Given the description of an element on the screen output the (x, y) to click on. 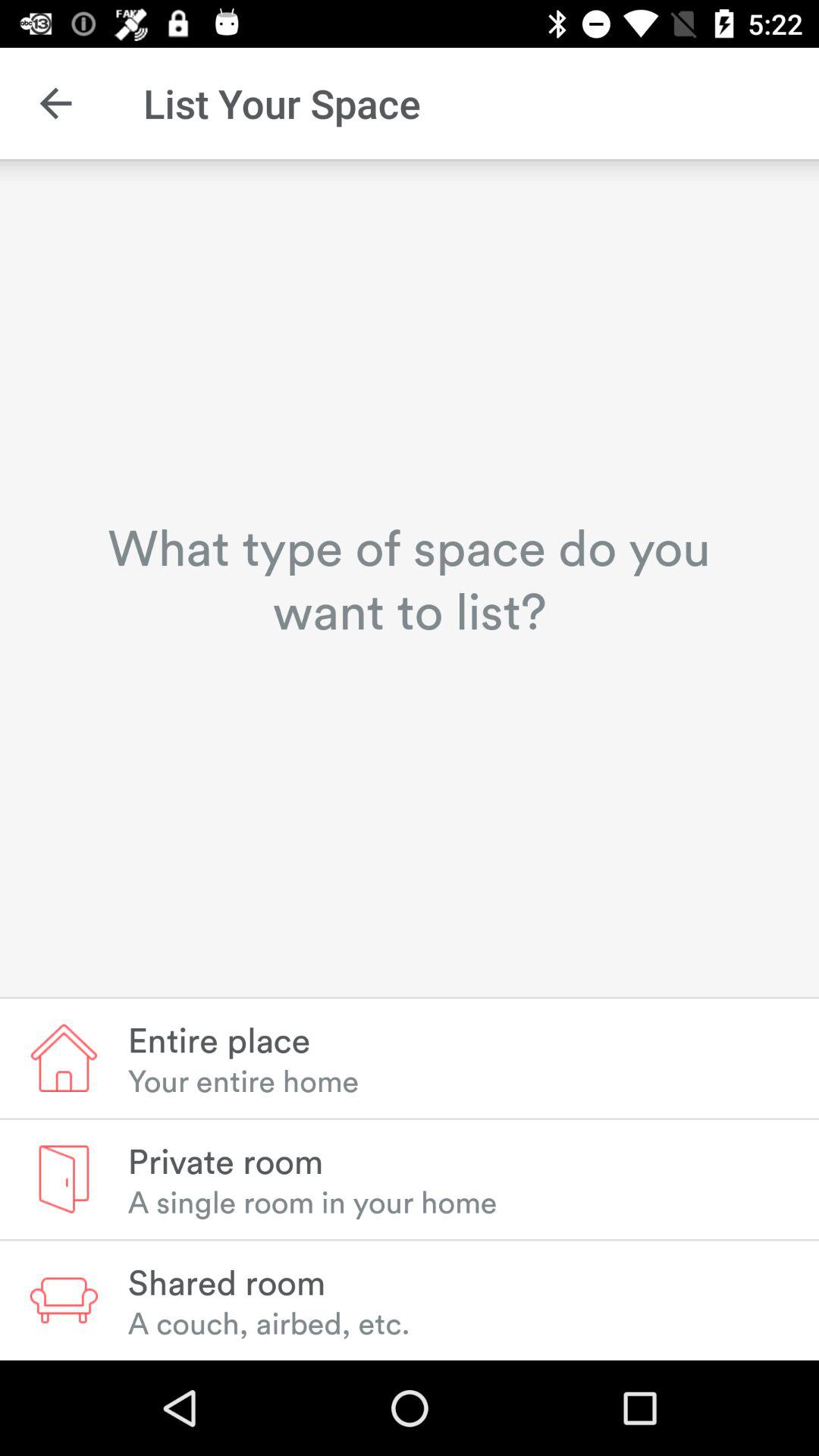
open the icon above the what type of (55, 103)
